Given the description of an element on the screen output the (x, y) to click on. 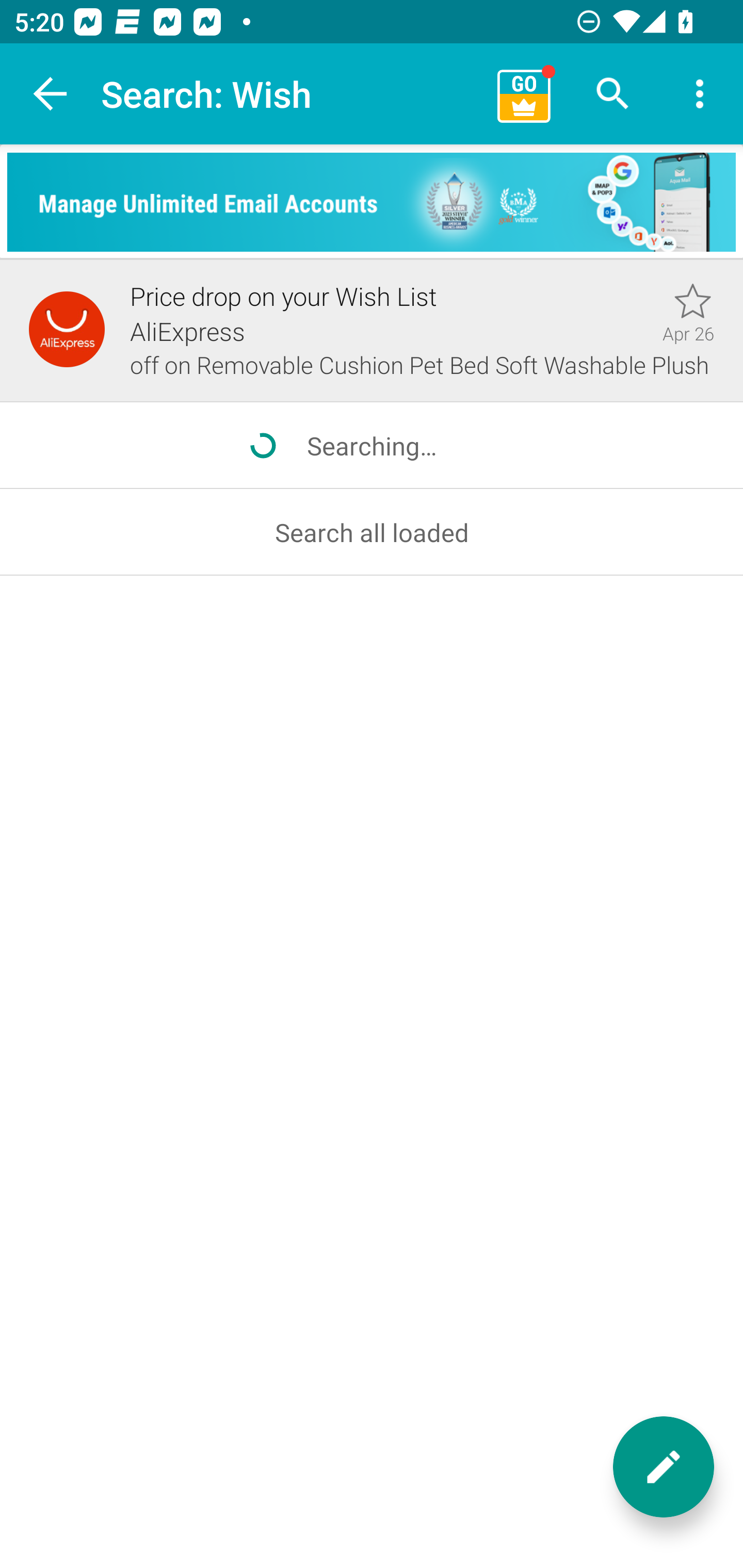
Navigate up (50, 93)
Search (612, 93)
More options (699, 93)
Searching… (371, 445)
Search all loaded (371, 532)
New message (663, 1466)
